Given the description of an element on the screen output the (x, y) to click on. 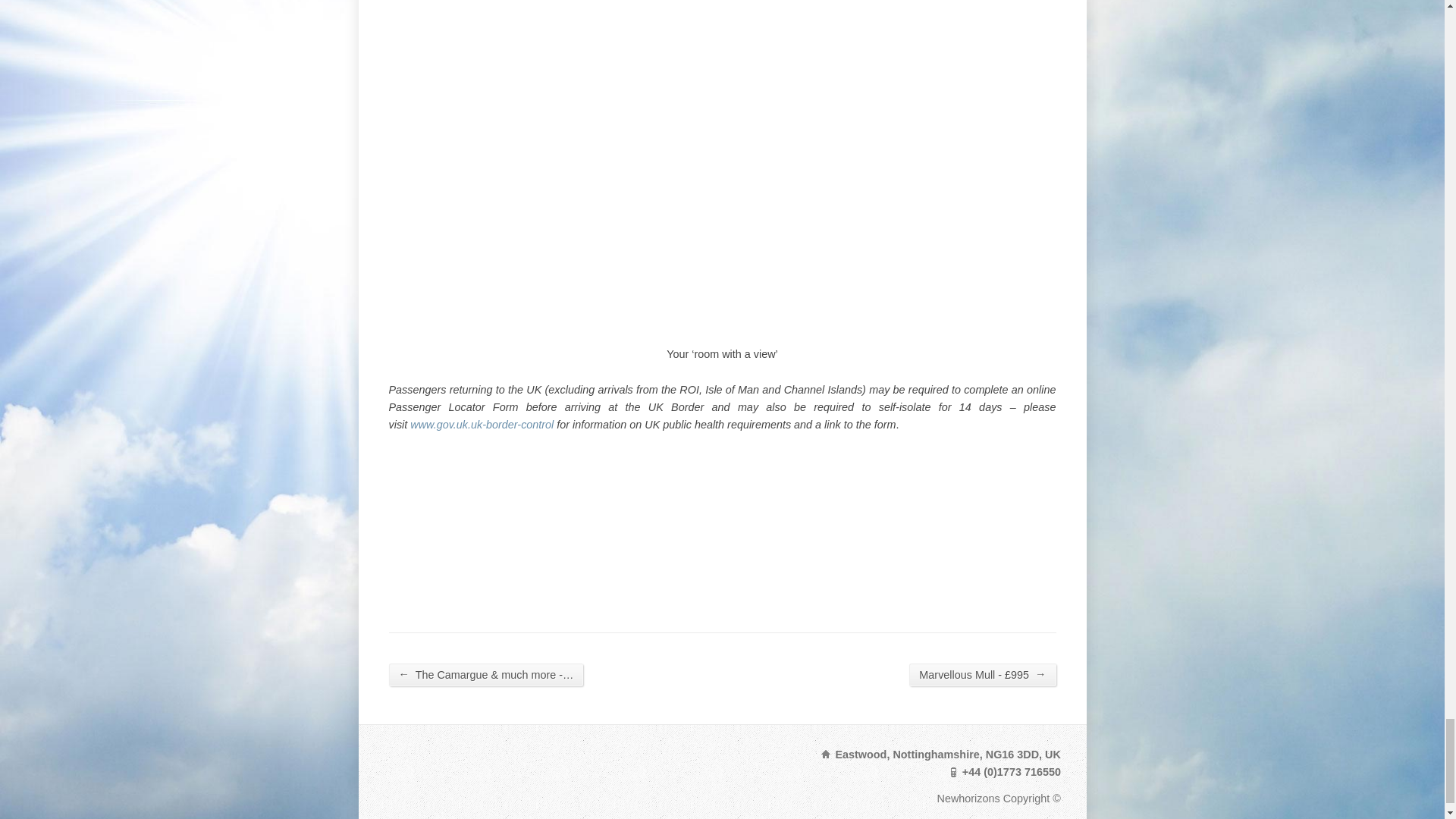
www.gov.uk.uk-border-control (481, 424)
